Given the description of an element on the screen output the (x, y) to click on. 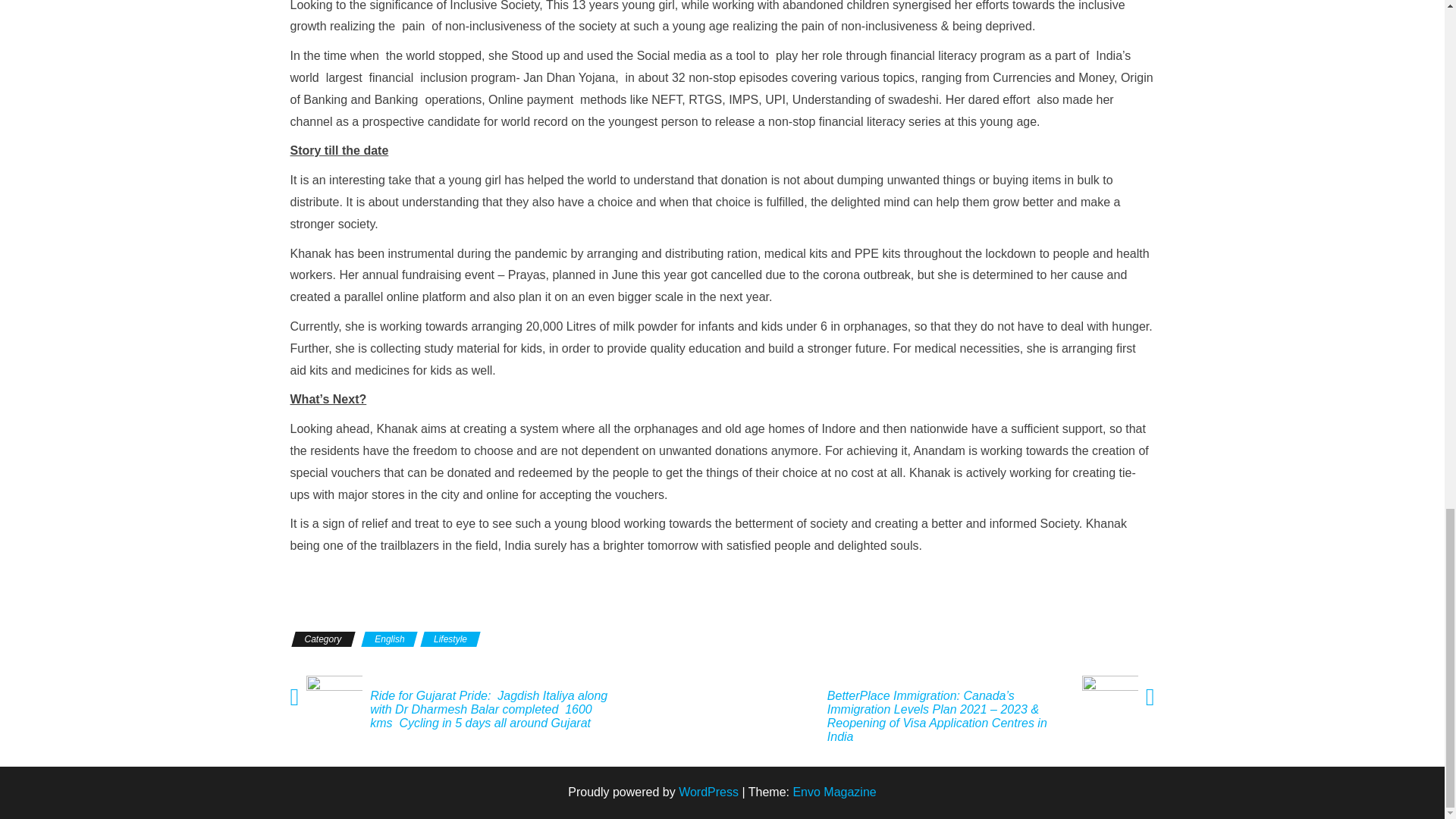
WordPress (708, 791)
Lifestyle (450, 639)
English (388, 639)
Envo Magazine (834, 791)
